Given the description of an element on the screen output the (x, y) to click on. 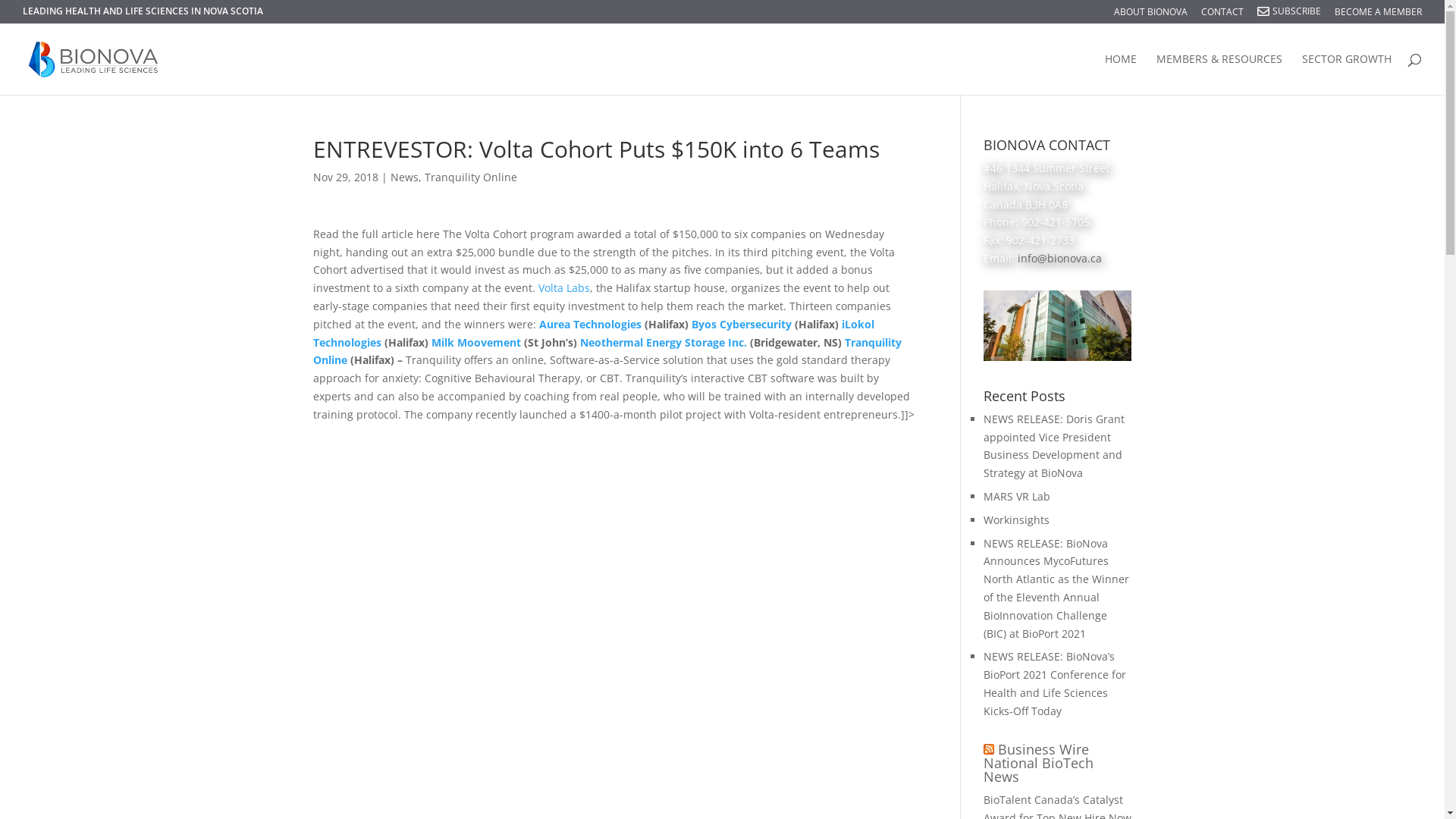
HOME Element type: text (1120, 73)
News Element type: text (403, 176)
Tranquility Online Element type: text (470, 176)
info@bionova.ca Element type: text (1059, 258)
MEMBERS & RESOURCES Element type: text (1219, 73)
SECTOR GROWTH Element type: text (1346, 73)
Milk Moovement  Element type: text (476, 342)
Business Wire National BioTech News Element type: text (1038, 762)
iLokol Technologies Element type: text (592, 332)
Aurea Technologies Element type: text (589, 323)
Neothermal Energy Storage Inc.  Element type: text (664, 342)
CONTACT Element type: text (1222, 15)
Byos Cybersecurity Element type: text (741, 323)
Volta Labs Element type: text (563, 287)
Workinsights Element type: text (1016, 519)
Tranquility Online  Element type: text (606, 351)
ABOUT BIONOVA Element type: text (1150, 15)
MARS VR Lab Element type: text (1016, 496)
BECOME A MEMBER Element type: text (1377, 15)
SUBSCRIBE Element type: text (1295, 14)
